Given the description of an element on the screen output the (x, y) to click on. 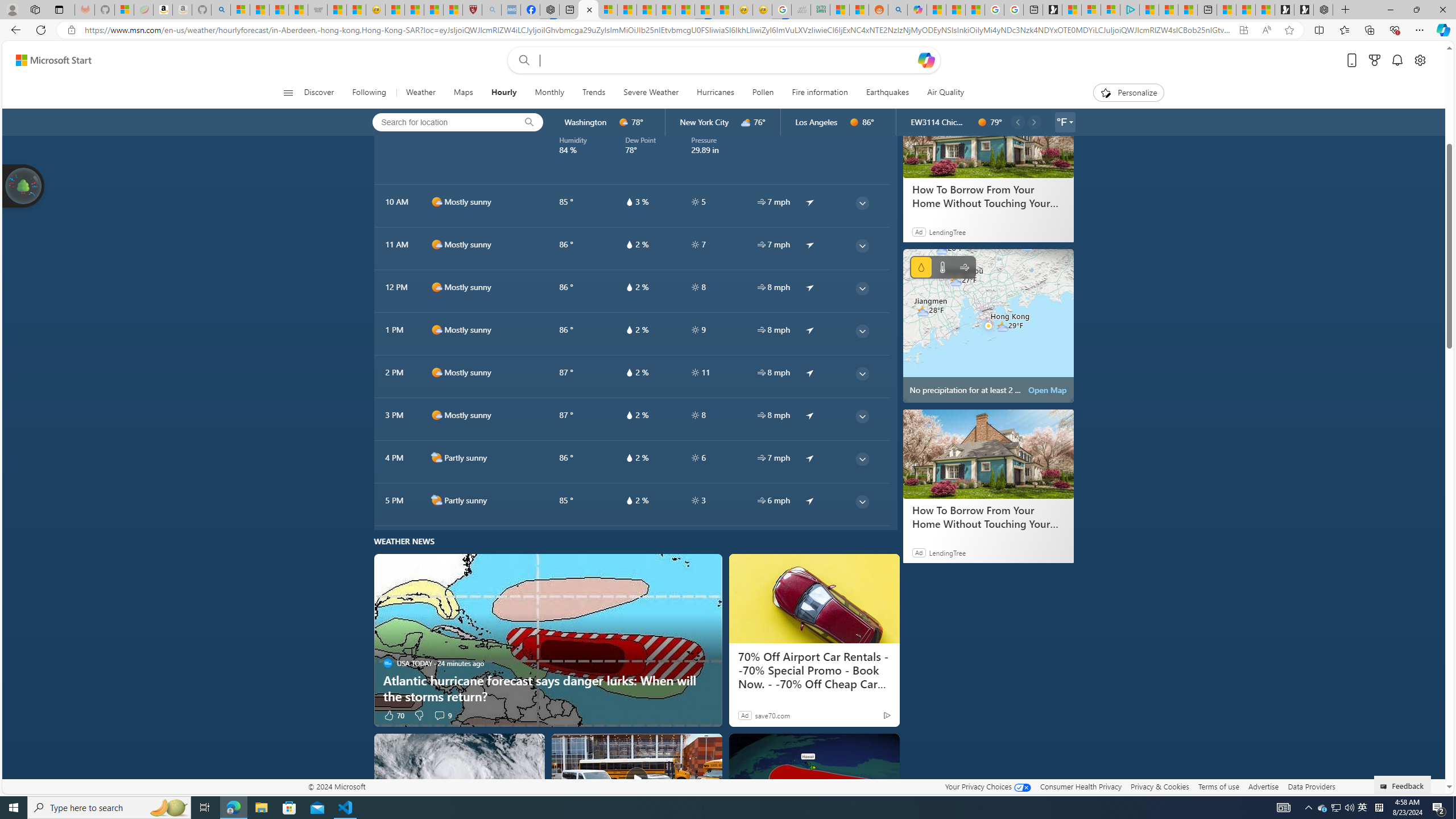
Join us in planting real trees to help our planet! (23, 185)
Temperature (942, 267)
Monthly (549, 92)
14 Common Myths Debunked By Scientific Facts (664, 9)
Join us in planting real trees to help our planet! (23, 184)
USA TODAY (387, 662)
d3000 (746, 121)
